Given the description of an element on the screen output the (x, y) to click on. 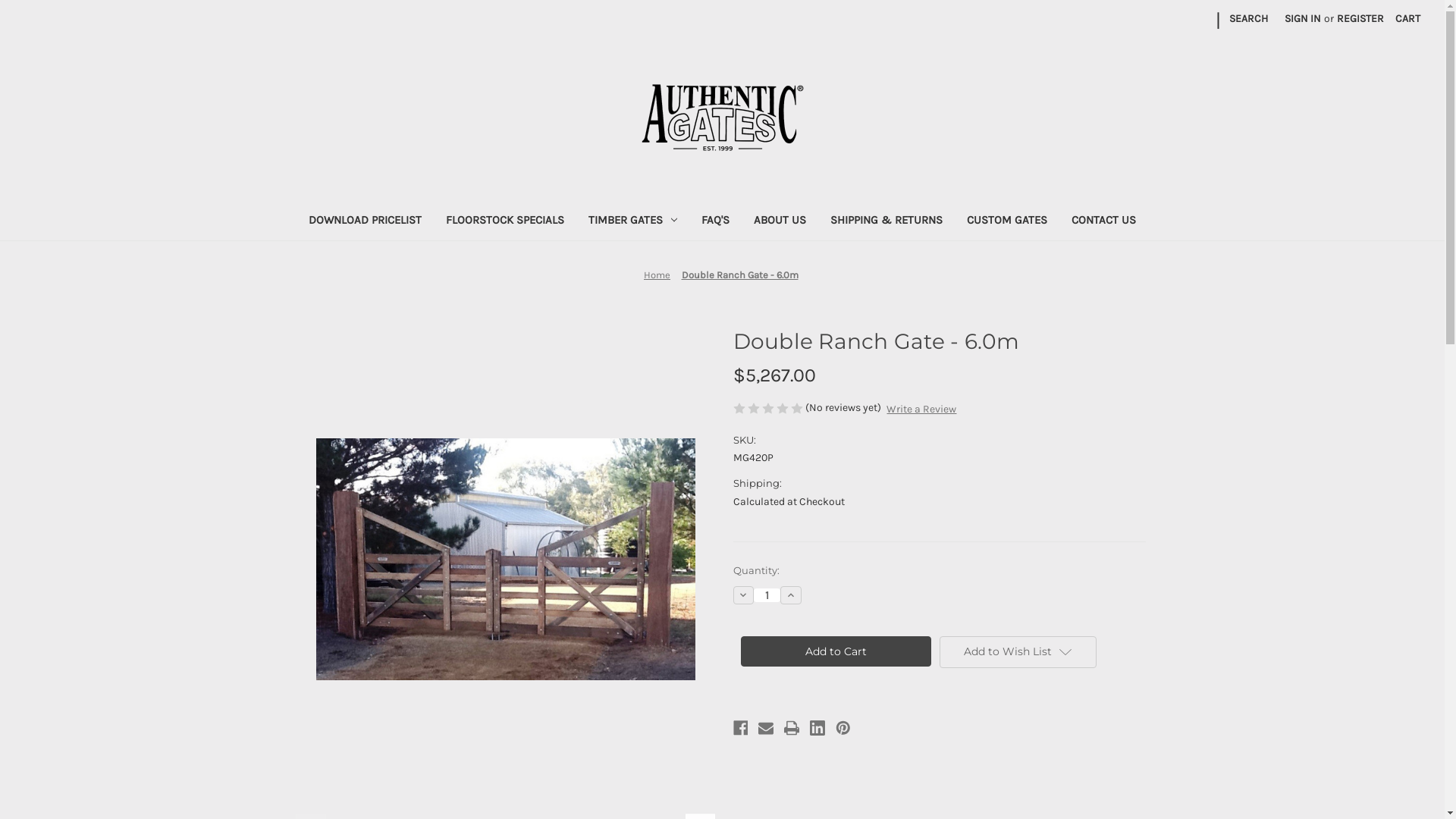
CONTACT US Element type: text (1103, 221)
CART Element type: text (1407, 18)
SIGN IN Element type: text (1302, 18)
DOWNLOAD PRICELIST Element type: text (364, 221)
Increase Quantity of Double Ranch Gate - 6.0m Element type: text (790, 595)
Facebook Element type: hover (739, 727)
Linkedin Element type: hover (817, 727)
Add to Wish List Element type: text (1017, 652)
Email Element type: hover (765, 727)
FAQ'S Element type: text (715, 221)
Print Element type: hover (791, 727)
Double Ranch Gates Element type: hover (504, 559)
Write a Review Element type: text (921, 409)
ABOUT US Element type: text (779, 221)
Pinterest Element type: hover (842, 727)
Authentic Timber Field Gates Element type: hover (722, 117)
Decrease Quantity of Double Ranch Gate - 6.0m Element type: text (742, 595)
Home Element type: text (656, 274)
FLOORSTOCK SPECIALS Element type: text (504, 221)
Double Ranch Gate - 6.0m Element type: text (738, 274)
Add to Cart Element type: text (835, 651)
REGISTER Element type: text (1360, 18)
TIMBER GATES Element type: text (632, 221)
SHIPPING & RETURNS Element type: text (886, 221)
CUSTOM GATES Element type: text (1006, 221)
SEARCH Element type: text (1248, 18)
